Given the description of an element on the screen output the (x, y) to click on. 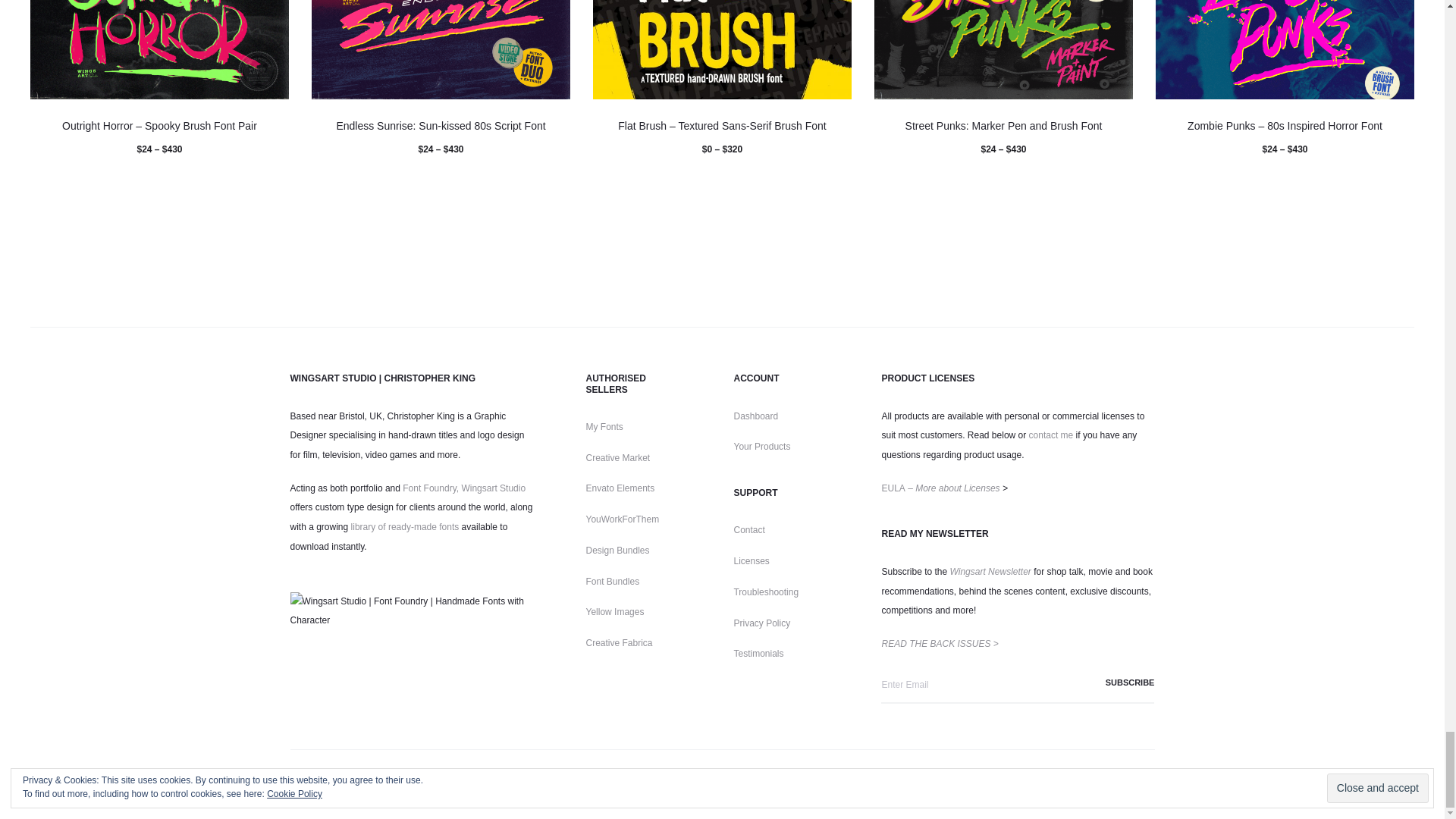
Subscribe (1110, 682)
